Given the description of an element on the screen output the (x, y) to click on. 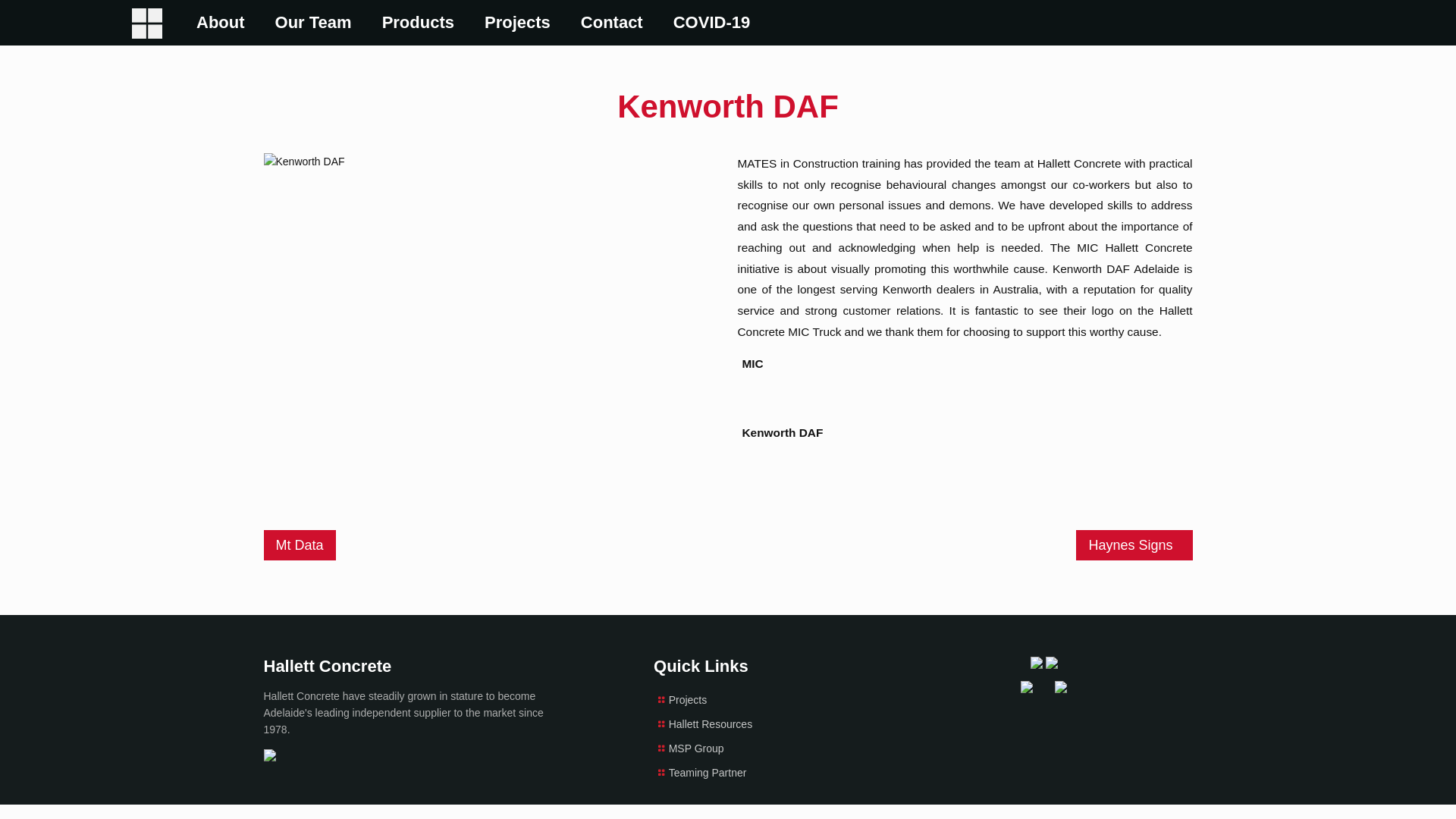
Our Team Element type: text (313, 22)
Hallett Resource Element type: hover (146, 22)
About Element type: text (220, 22)
Hallett Resources Element type: text (710, 724)
Contact Element type: text (611, 22)
Projects Element type: text (687, 699)
Mt Data Element type: text (299, 545)
COVID-19 Element type: text (711, 22)
Projects Element type: text (517, 22)
Products Element type: text (418, 22)
MSP Group Element type: text (696, 748)
Teaming Partner Element type: text (707, 772)
Haynes Signs   Element type: text (1134, 545)
